Given the description of an element on the screen output the (x, y) to click on. 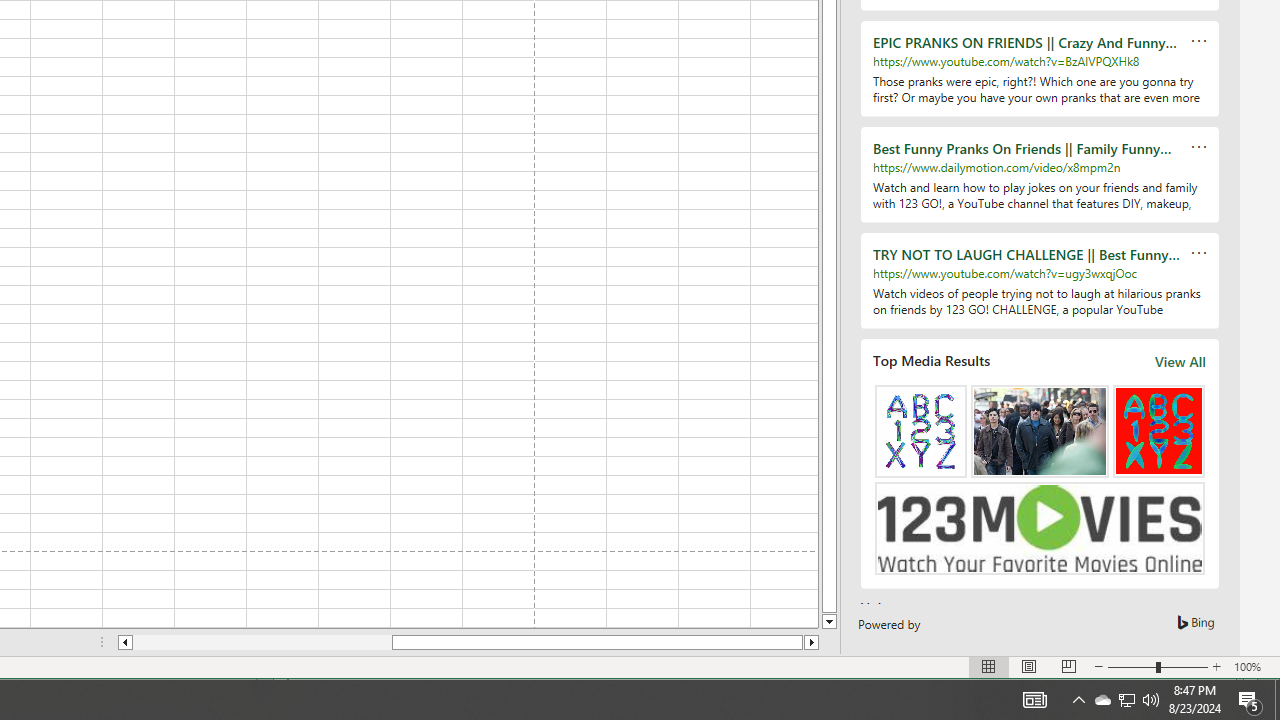
Action Center, 5 new notifications (1250, 699)
AutomationID: 4105 (1034, 699)
